Given the description of an element on the screen output the (x, y) to click on. 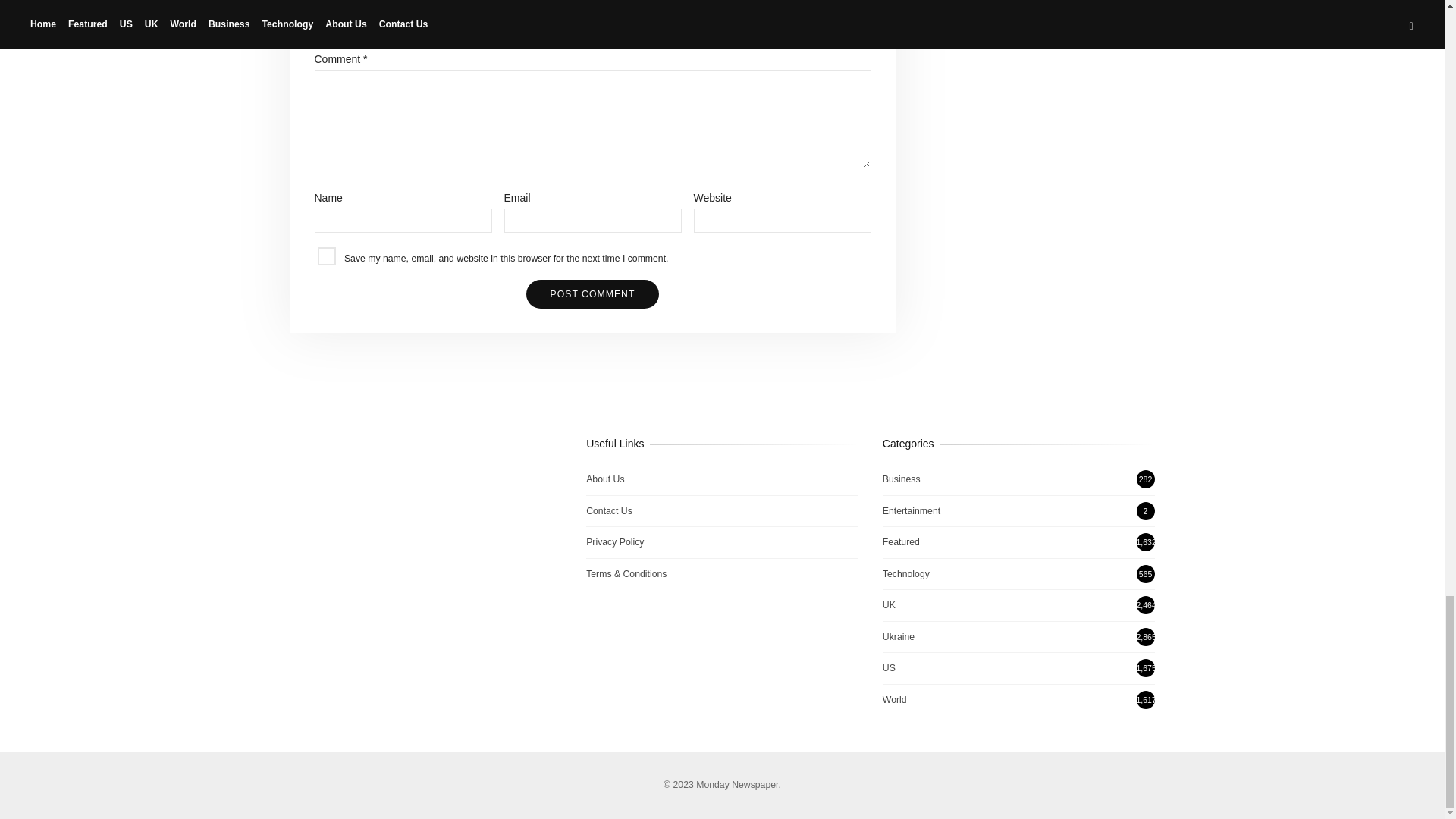
Post Comment (592, 294)
Post Comment (592, 294)
yes (325, 256)
